Given the description of an element on the screen output the (x, y) to click on. 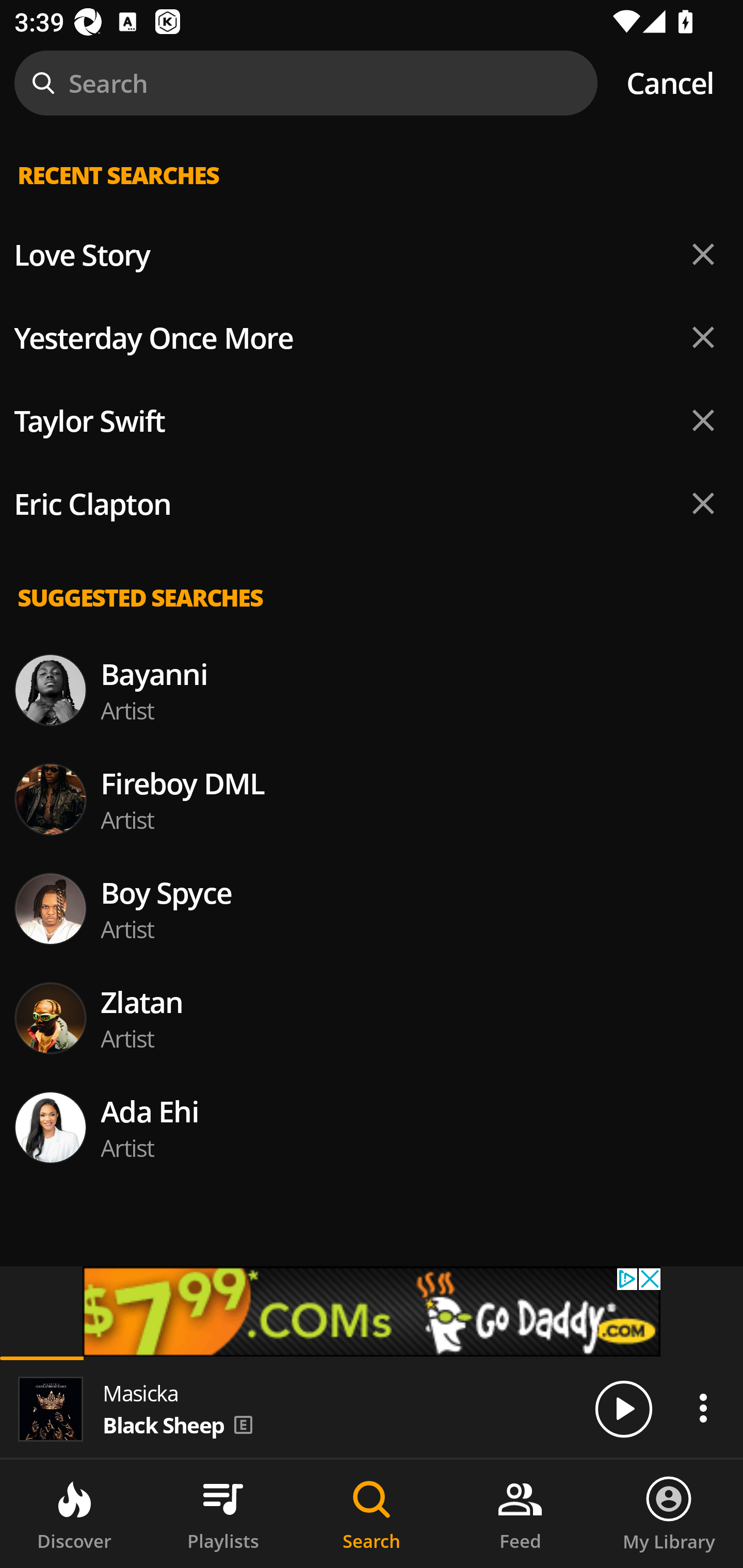
Search Cancel (371, 82)
Cancel (670, 82)
Artists, songs, albums and playlists… (371, 191)
Love Story Delete (371, 254)
Delete (703, 254)
Yesterday Once More Delete (371, 337)
Delete (703, 336)
Taylor Swift Delete (371, 420)
Delete (703, 420)
Eric Clapton Delete (371, 503)
Delete (703, 503)
Bayanni Artist (371, 689)
Fireboy DML Artist (371, 799)
Boy Spyce Artist (371, 908)
Zlatan Artist (371, 1017)
Ada Ehi Artist (371, 1127)
492 (371, 1311)
Actions (703, 1407)
Play/Pause (623, 1408)
Discover (74, 1513)
Playlists (222, 1513)
Search (371, 1513)
Feed (519, 1513)
My Library (668, 1513)
